Given the description of an element on the screen output the (x, y) to click on. 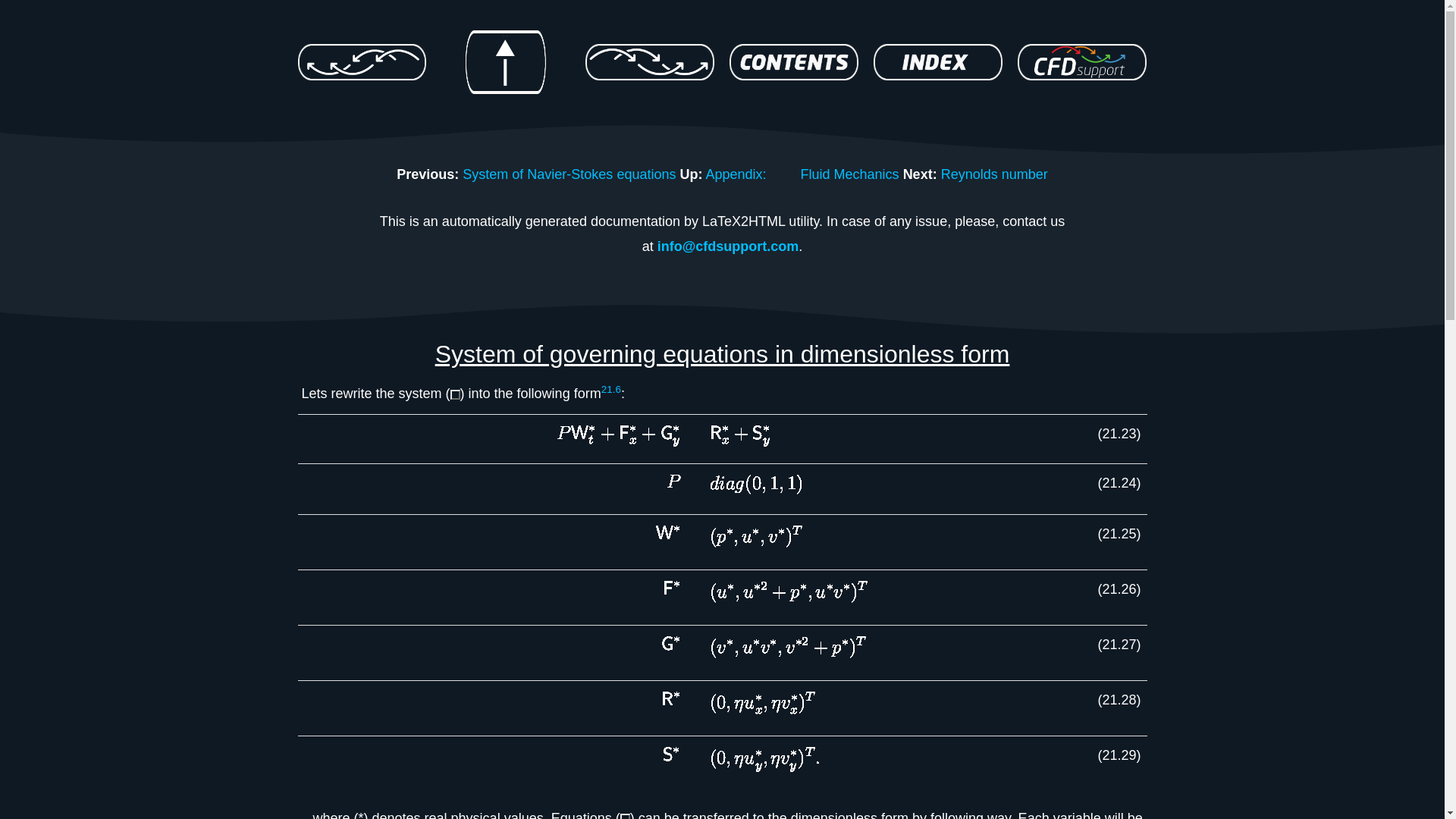
21.6 (611, 393)
Node322 8 (617, 438)
Node322 7 (454, 394)
Node322 10 (739, 438)
Node322 16 (755, 541)
Node322 3 (649, 62)
Reynolds number (994, 174)
Node322 2 (505, 62)
Node322 6 (1082, 62)
System of Navier-Stokes equations (569, 174)
Node322 4 (794, 62)
Node322 1 (361, 62)
Node322 5 (938, 62)
Node322 13 (755, 488)
Appendix:         Fluid Mechanics (801, 174)
